Given the description of an element on the screen output the (x, y) to click on. 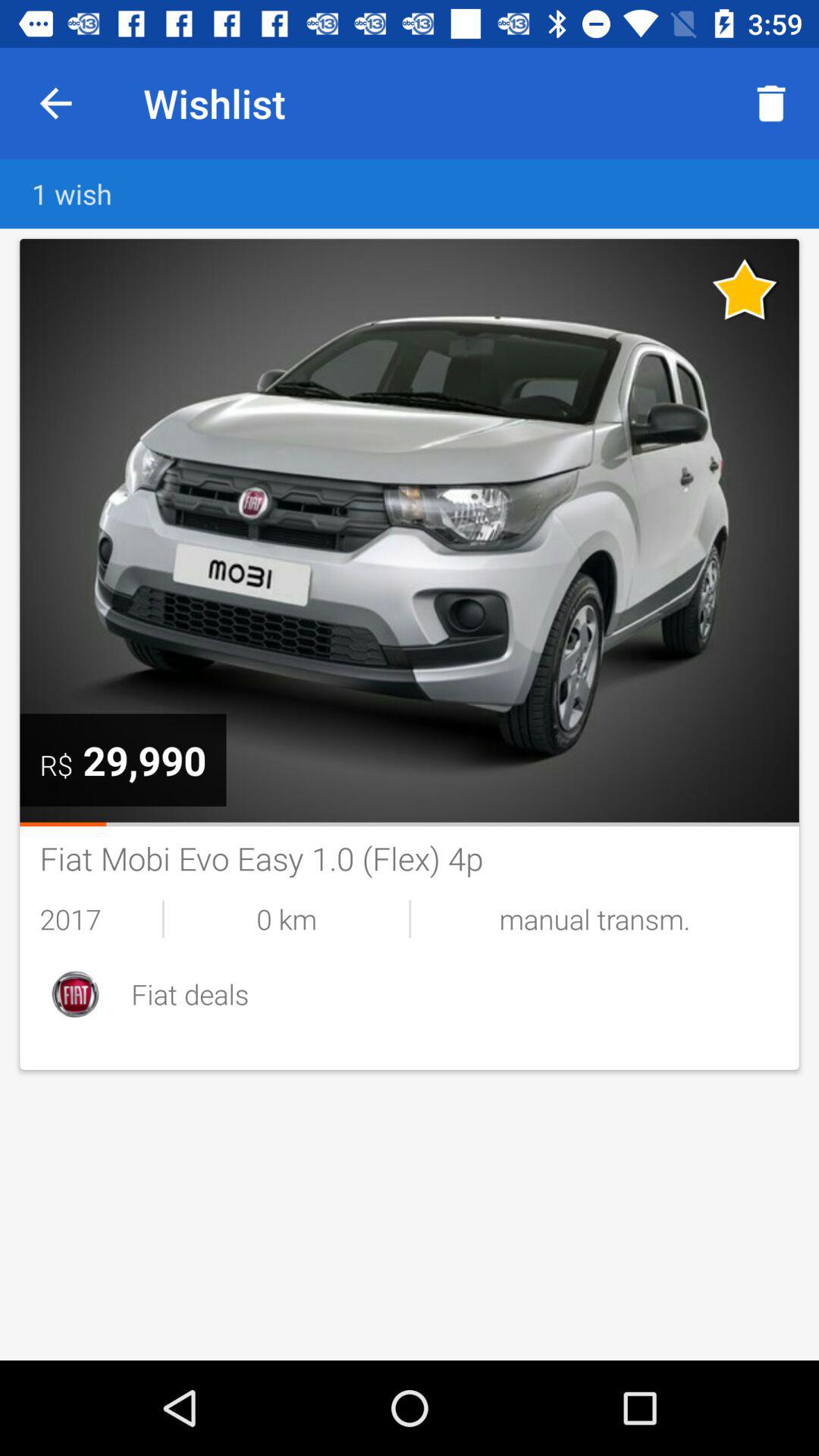
turn off the item to the left of fiat deals item (75, 994)
